Given the description of an element on the screen output the (x, y) to click on. 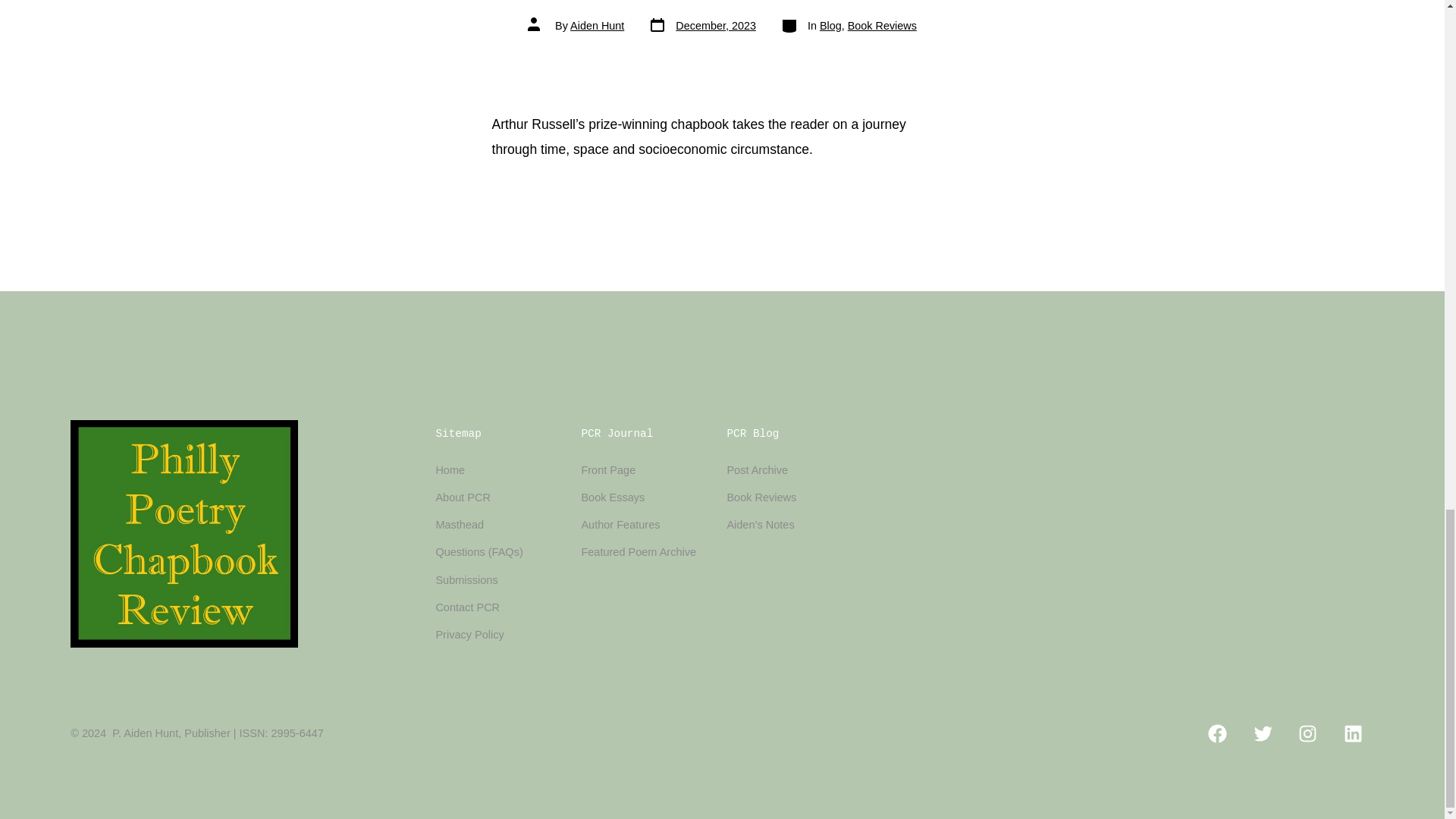
Aiden Hunt (701, 25)
About PCR (597, 25)
Blog (462, 497)
Home (830, 25)
Book Reviews (449, 469)
Masthead (882, 25)
